Given the description of an element on the screen output the (x, y) to click on. 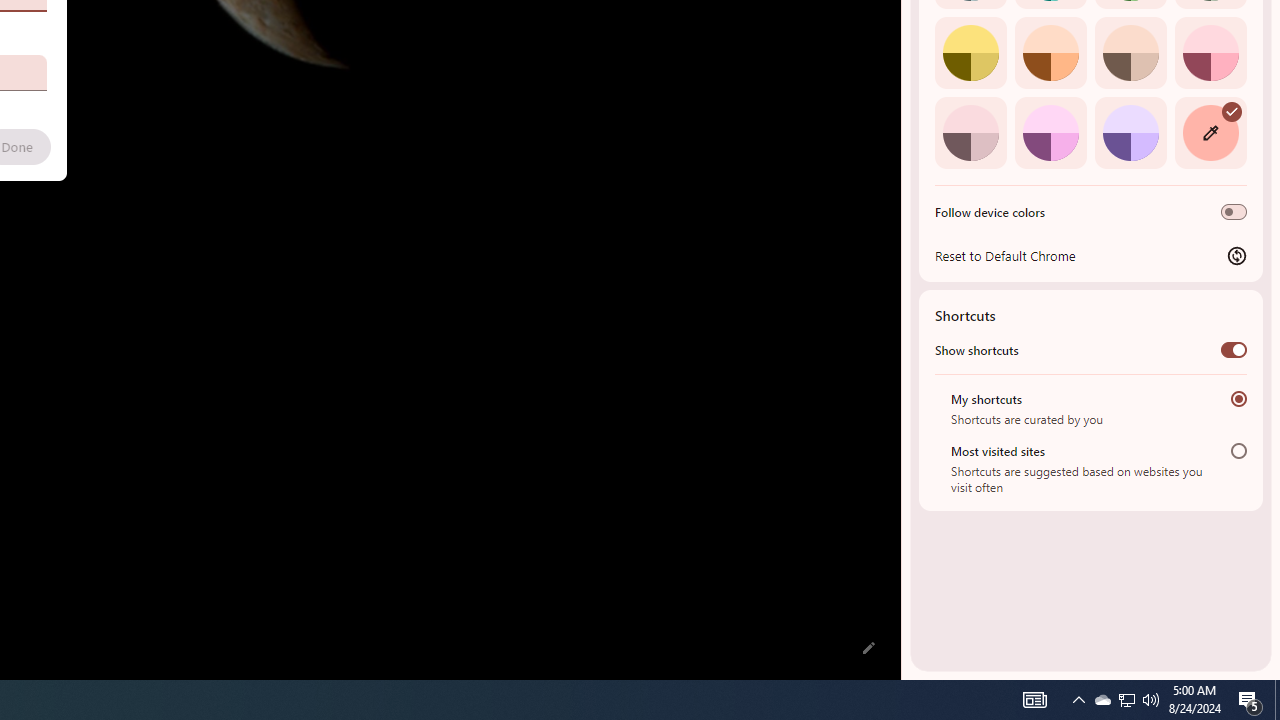
Violet (1130, 132)
Rose (1210, 52)
Most visited sites (1238, 450)
Apricot (1130, 52)
Orange (1050, 52)
Pink (970, 132)
Show shortcuts (1233, 349)
Follow device colors (1233, 211)
Citron (970, 52)
Side Panel Resize Handle (905, 39)
Reset to Default Chrome (1091, 255)
Custom color (1210, 132)
AutomationID: svg (1231, 110)
Fuchsia (1050, 132)
